Given the description of an element on the screen output the (x, y) to click on. 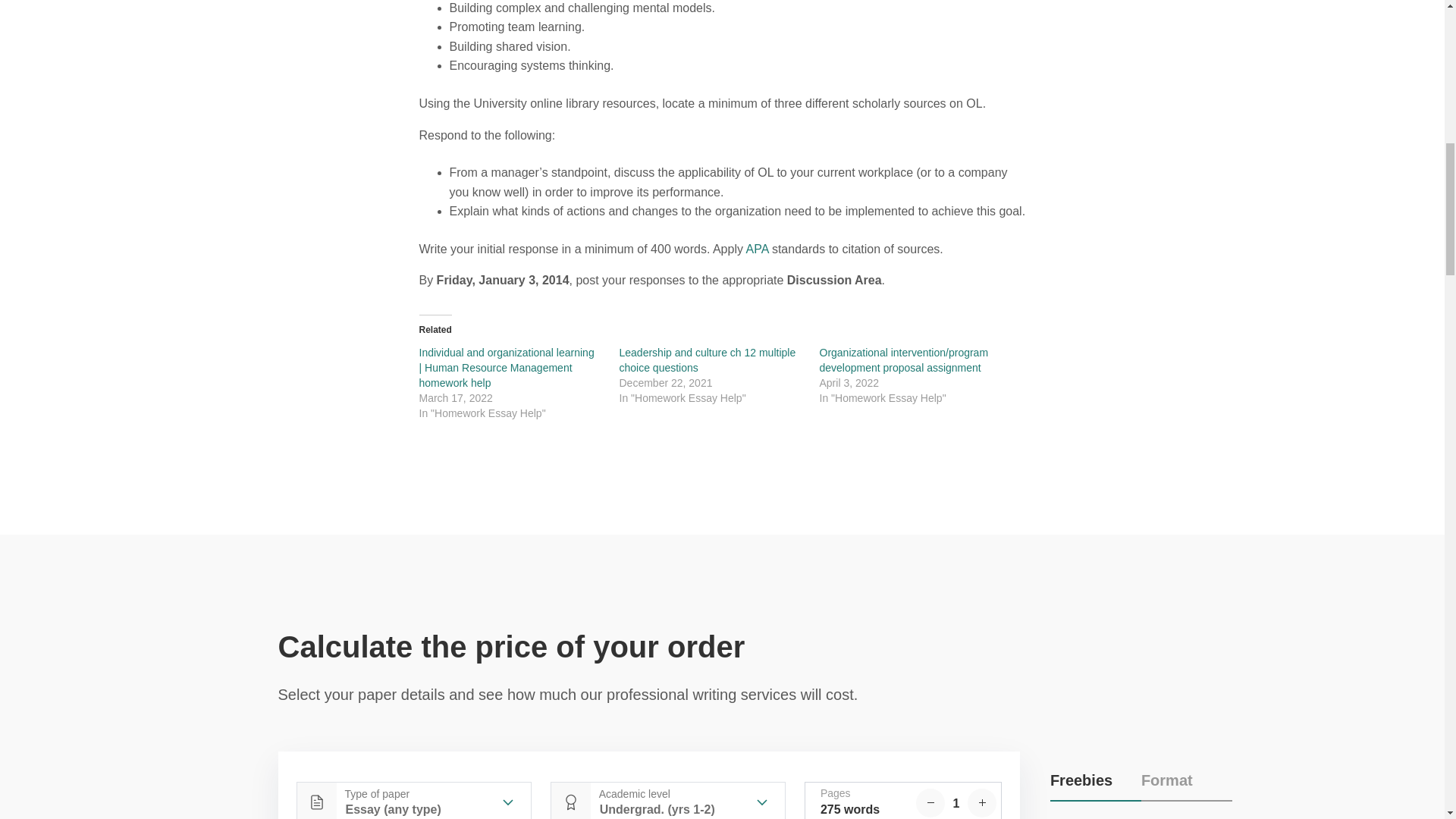
1 (956, 803)
APA (756, 248)
Leadership and culture ch 12 multiple choice questions (706, 359)
Leadership and culture ch 12 multiple choice questions (706, 359)
